Given the description of an element on the screen output the (x, y) to click on. 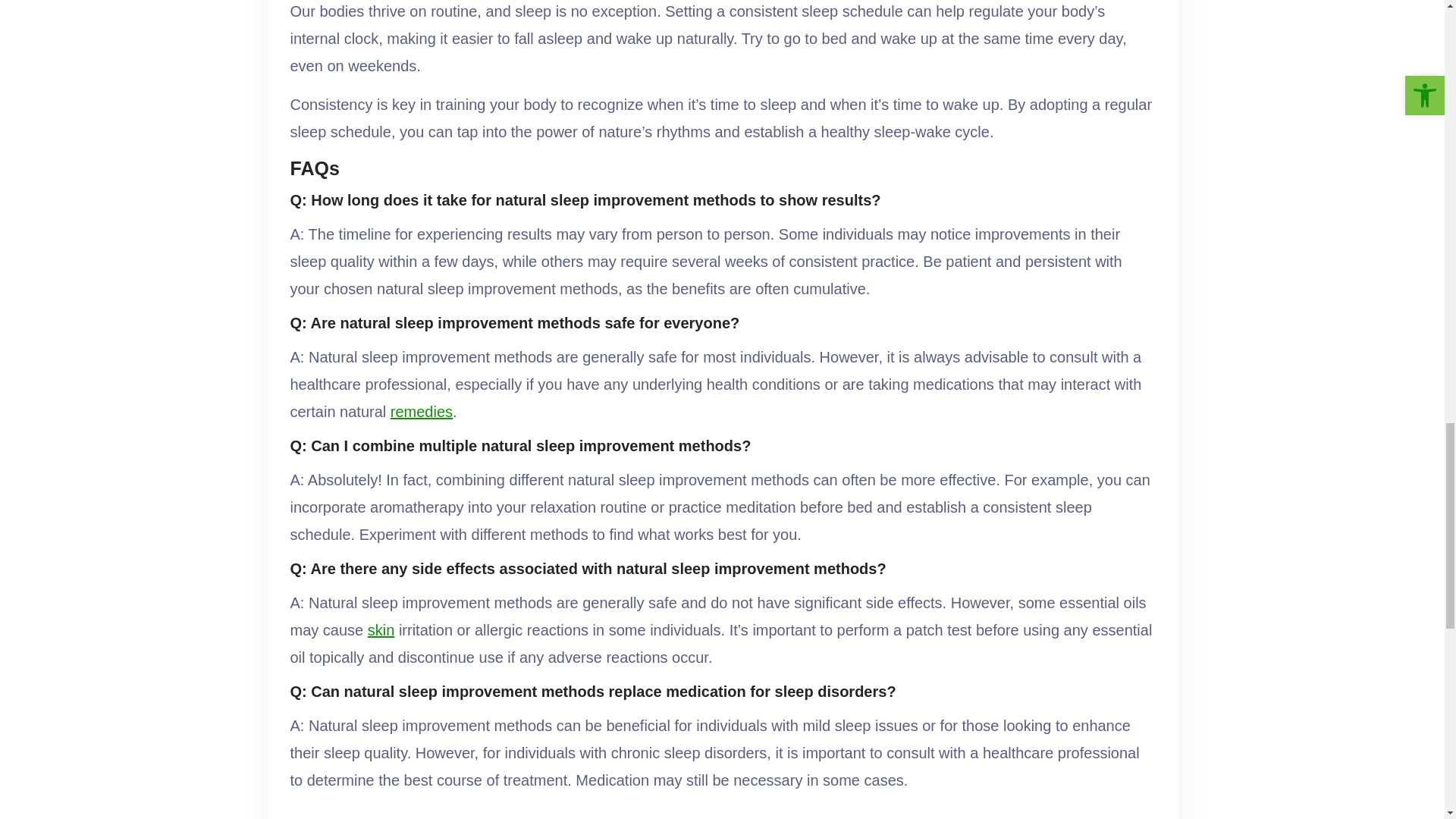
remedies (421, 411)
remedies (421, 411)
skin (381, 629)
